Given the description of an element on the screen output the (x, y) to click on. 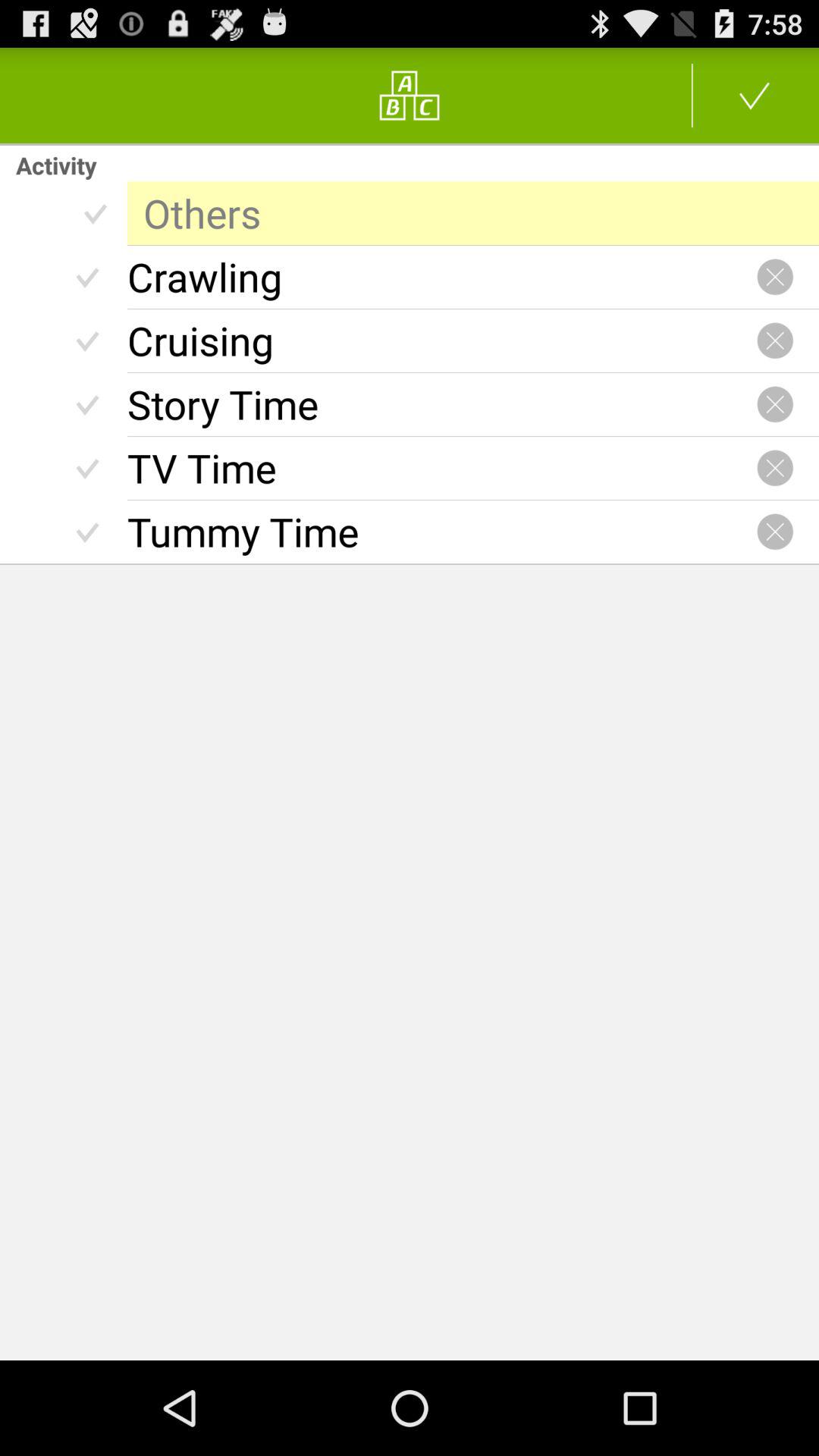
go close (775, 404)
